Given the description of an element on the screen output the (x, y) to click on. 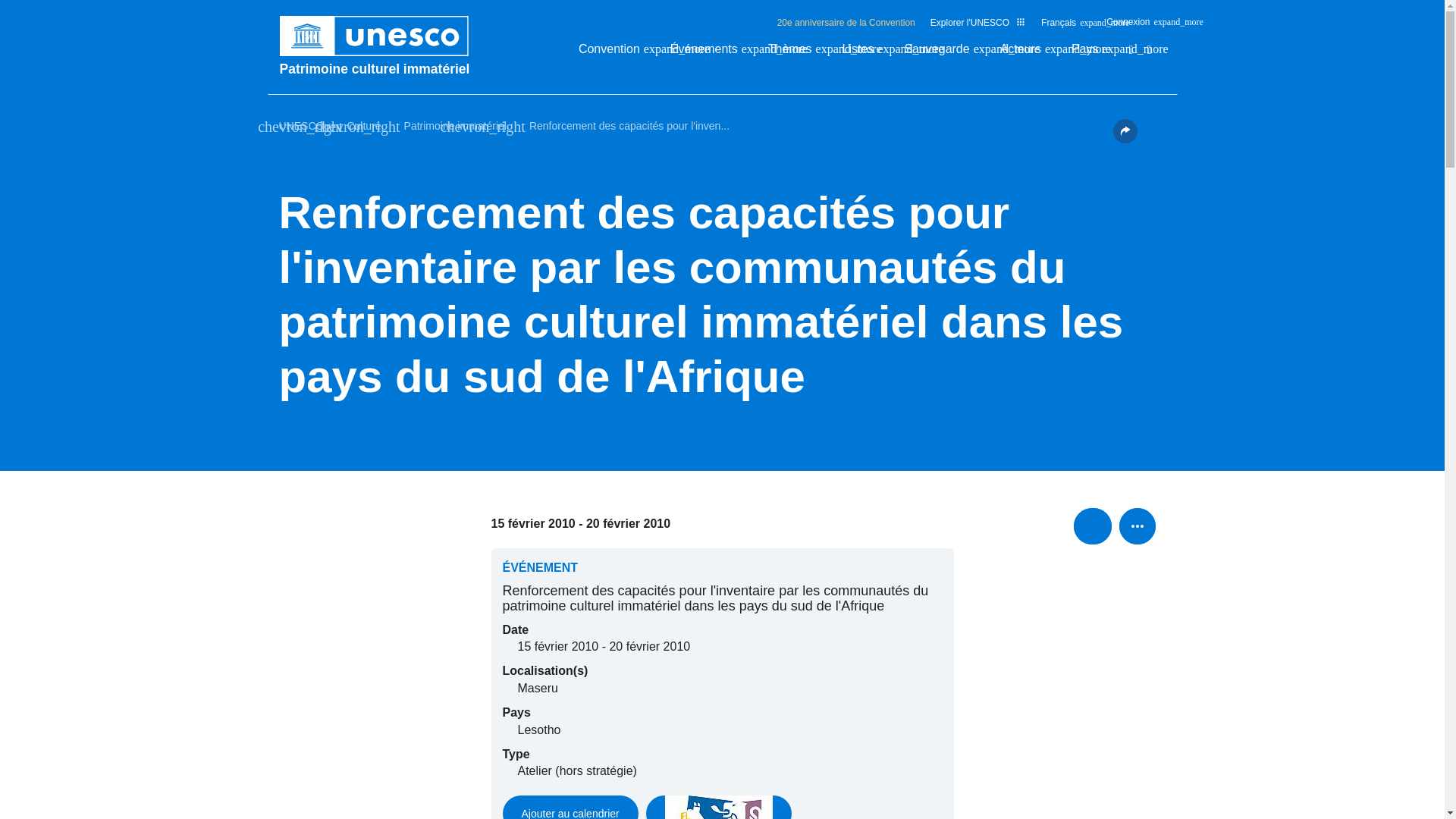
Connexion (1135, 26)
Convention (616, 52)
Listes (866, 52)
Pays (1092, 52)
20e anniversaire de la Convention (846, 22)
Explorer l'UNESCO (978, 22)
Convention (616, 52)
Sauvegarde (944, 52)
Acteurs (1028, 52)
